Given the description of an element on the screen output the (x, y) to click on. 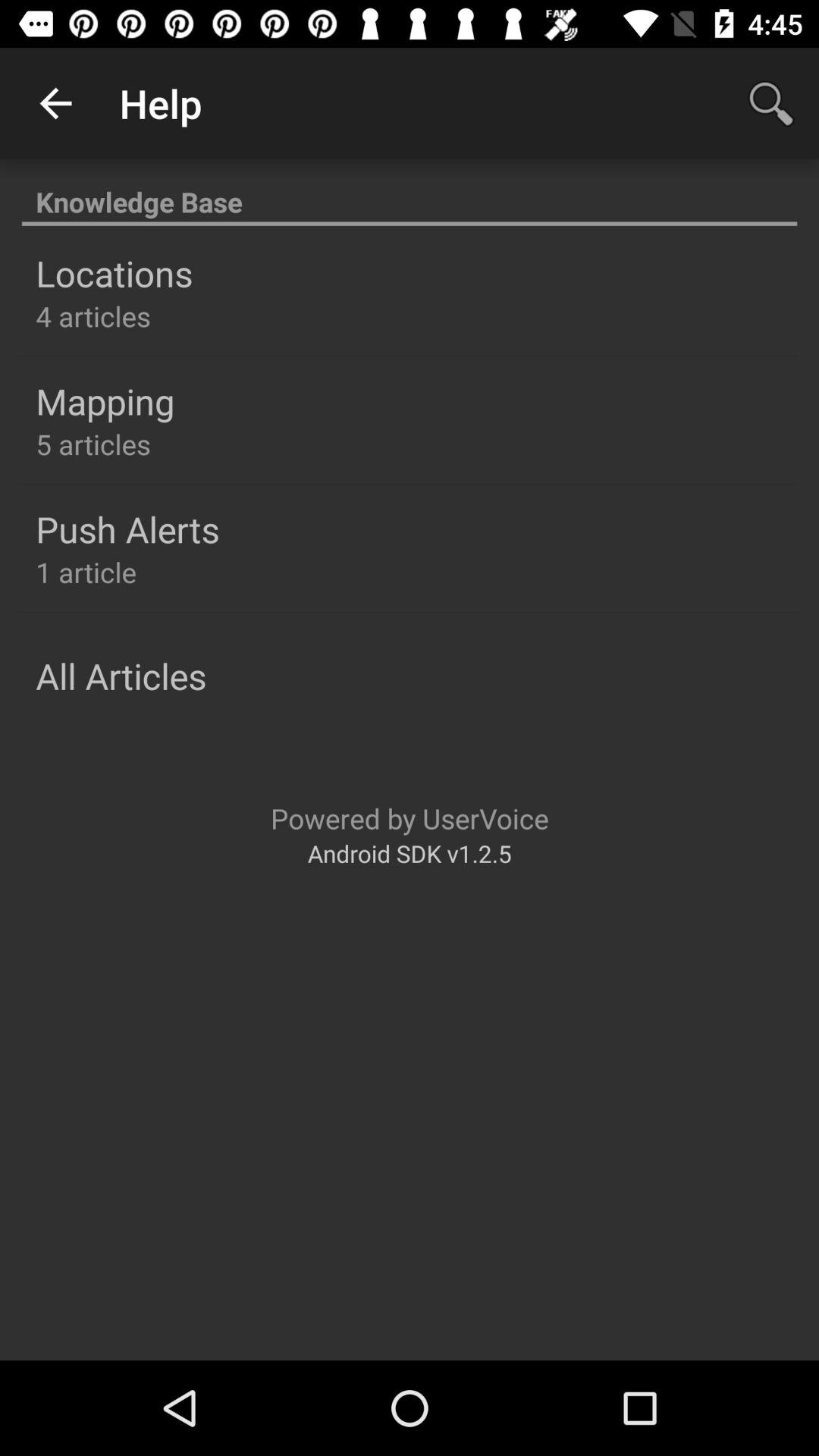
turn off the locations icon (113, 273)
